Given the description of an element on the screen output the (x, y) to click on. 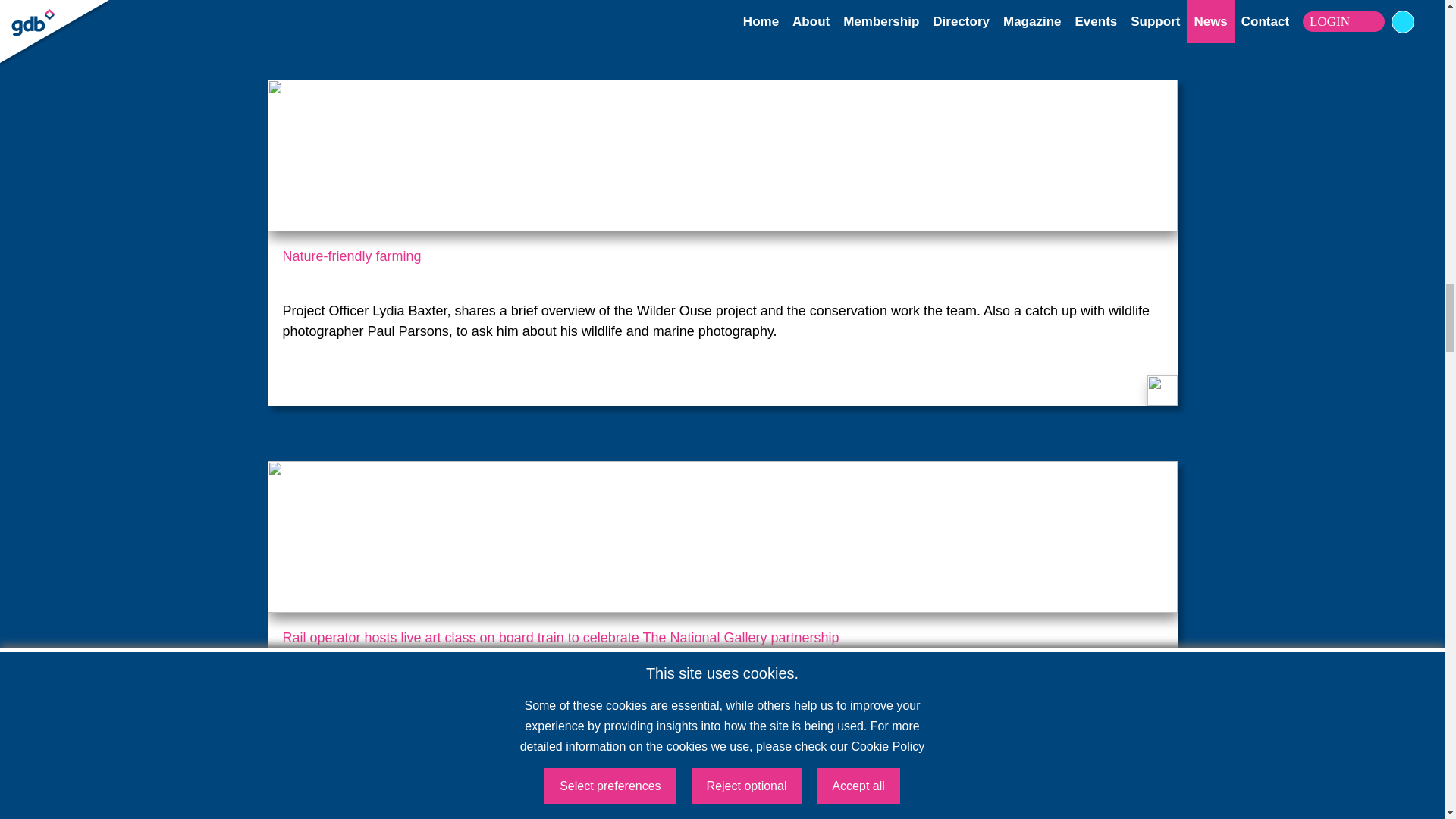
Nature-friendly farming (721, 265)
